Given the description of an element on the screen output the (x, y) to click on. 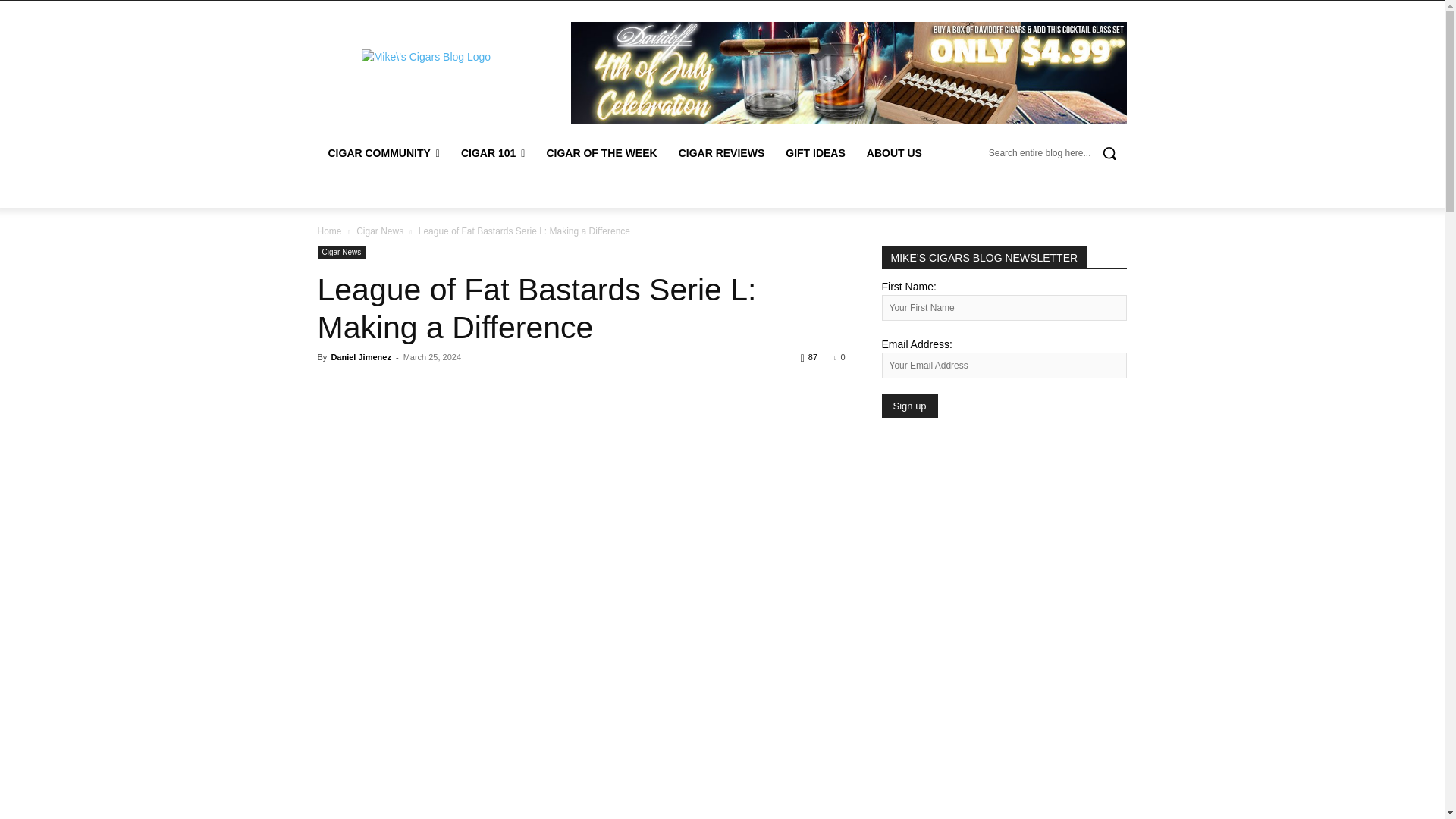
Mikes Cigars Blog Logo (425, 57)
CIGAR REVIEWS (722, 153)
CIGAR COMMUNITY (383, 153)
CIGAR OF THE WEEK (600, 153)
ABOUT US (894, 153)
Mikes Cigars Blog Logo (425, 57)
CIGAR 101 (492, 153)
Home (328, 231)
Search entire blog here... (1057, 153)
GIFT IDEAS (815, 153)
Cigar News (379, 231)
Sign up (908, 405)
View all posts in Cigar News (379, 231)
